Given the description of an element on the screen output the (x, y) to click on. 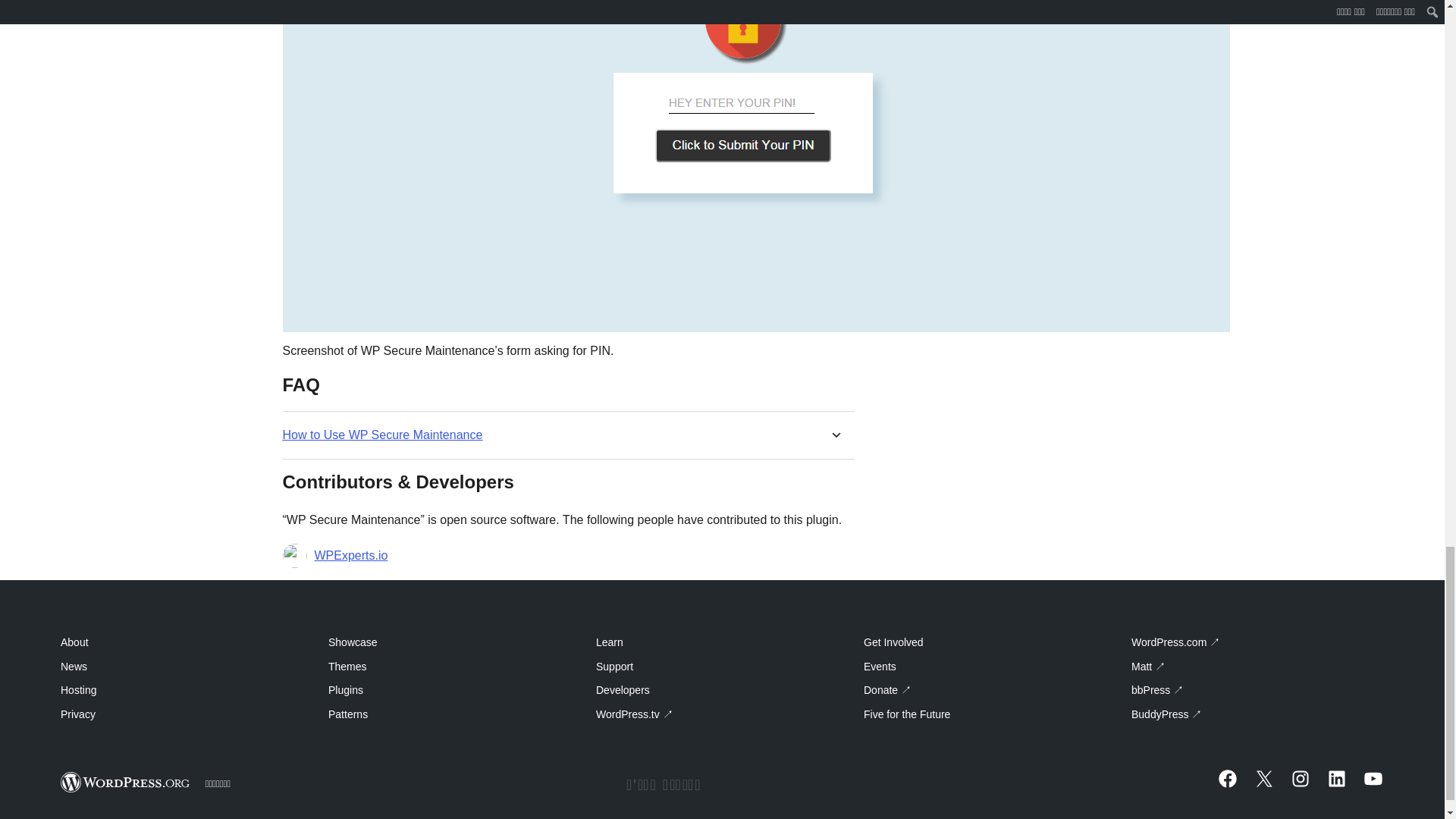
WordPress.org (125, 782)
How to Use WP Secure Maintenance (381, 434)
